Given the description of an element on the screen output the (x, y) to click on. 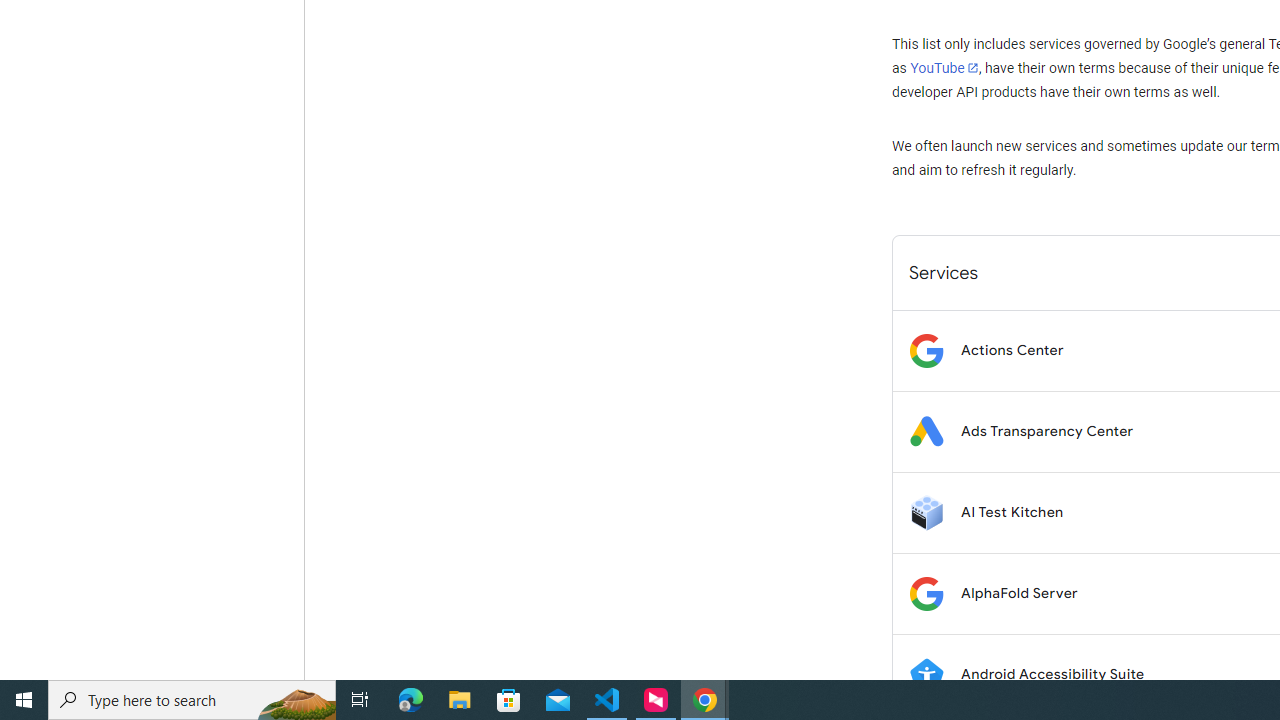
Logo for Ads Transparency Center (926, 431)
Logo for Actions Center (926, 349)
YouTube (944, 68)
Logo for Android Accessibility Suite (926, 673)
Logo for AI Test Kitchen (926, 512)
Logo for AlphaFold Server (926, 593)
